Given the description of an element on the screen output the (x, y) to click on. 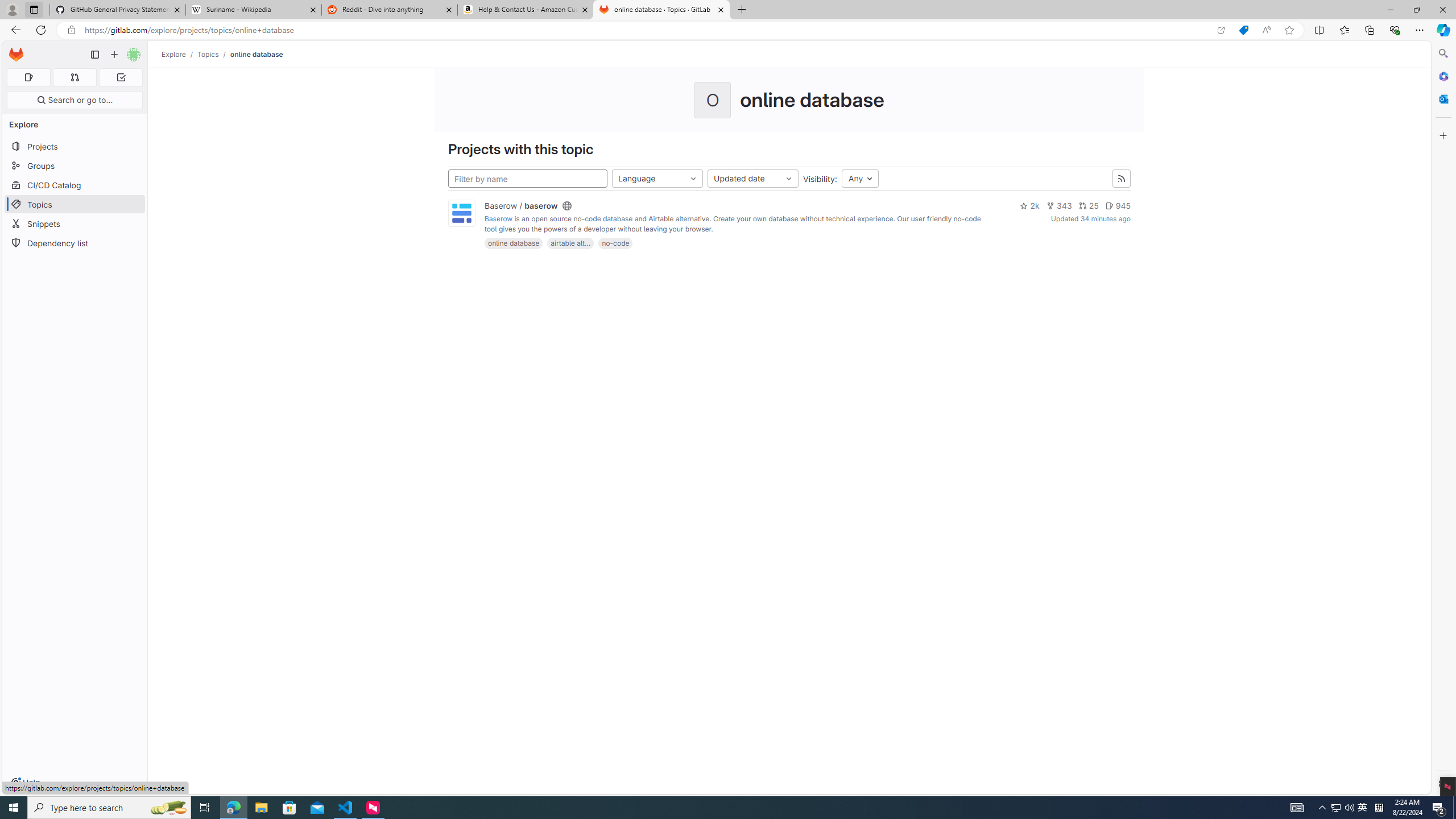
25 (1088, 205)
Help & Contact Us - Amazon Customer Service (525, 9)
Groups (74, 165)
CI/CD Catalog (74, 185)
Topics (74, 203)
Groups (74, 165)
Snippets (74, 223)
